Given the description of an element on the screen output the (x, y) to click on. 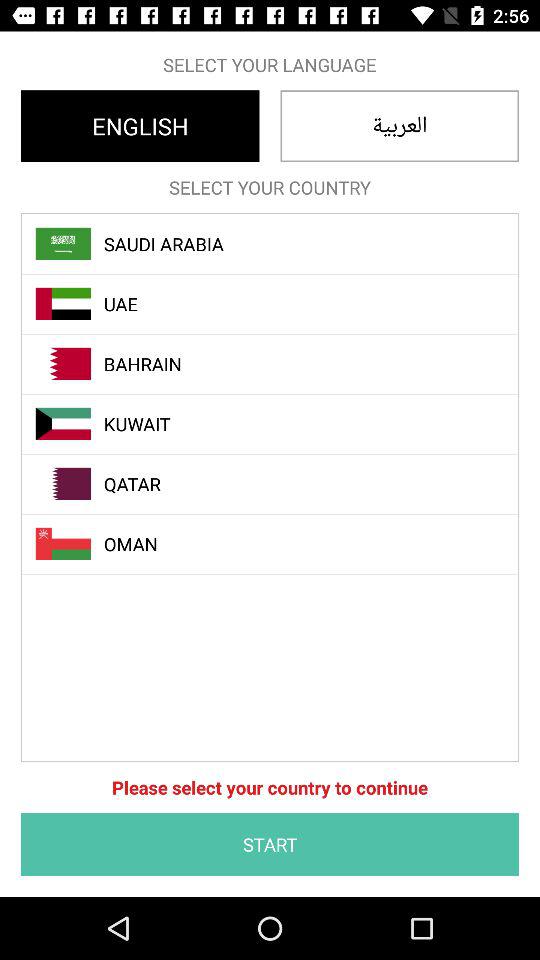
open the item below the select your language icon (399, 126)
